Given the description of an element on the screen output the (x, y) to click on. 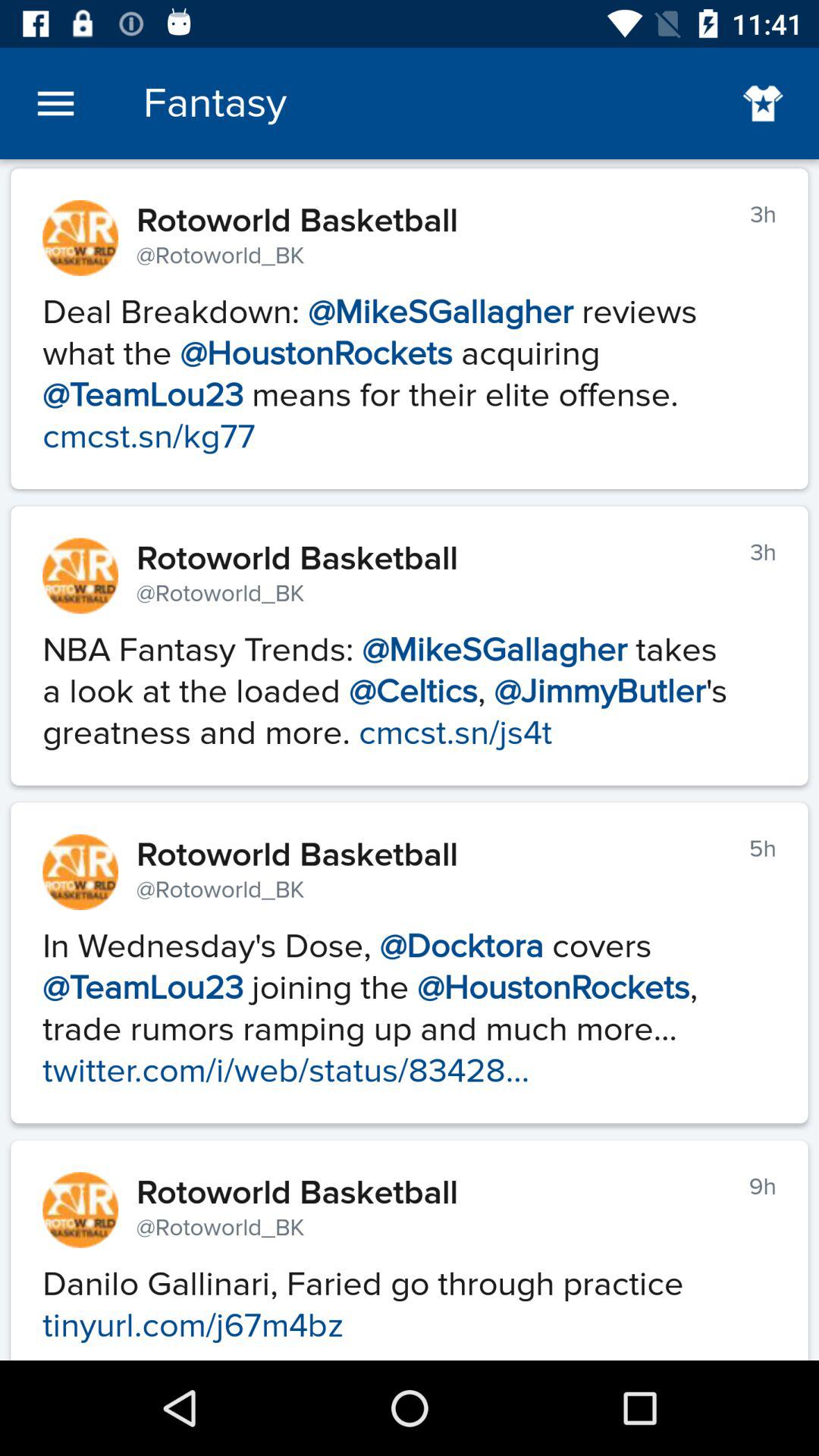
click on the text below rotoworld basketball (409, 366)
select the 2nd paragraph (409, 683)
click on the top left corner option (55, 103)
